Given the description of an element on the screen output the (x, y) to click on. 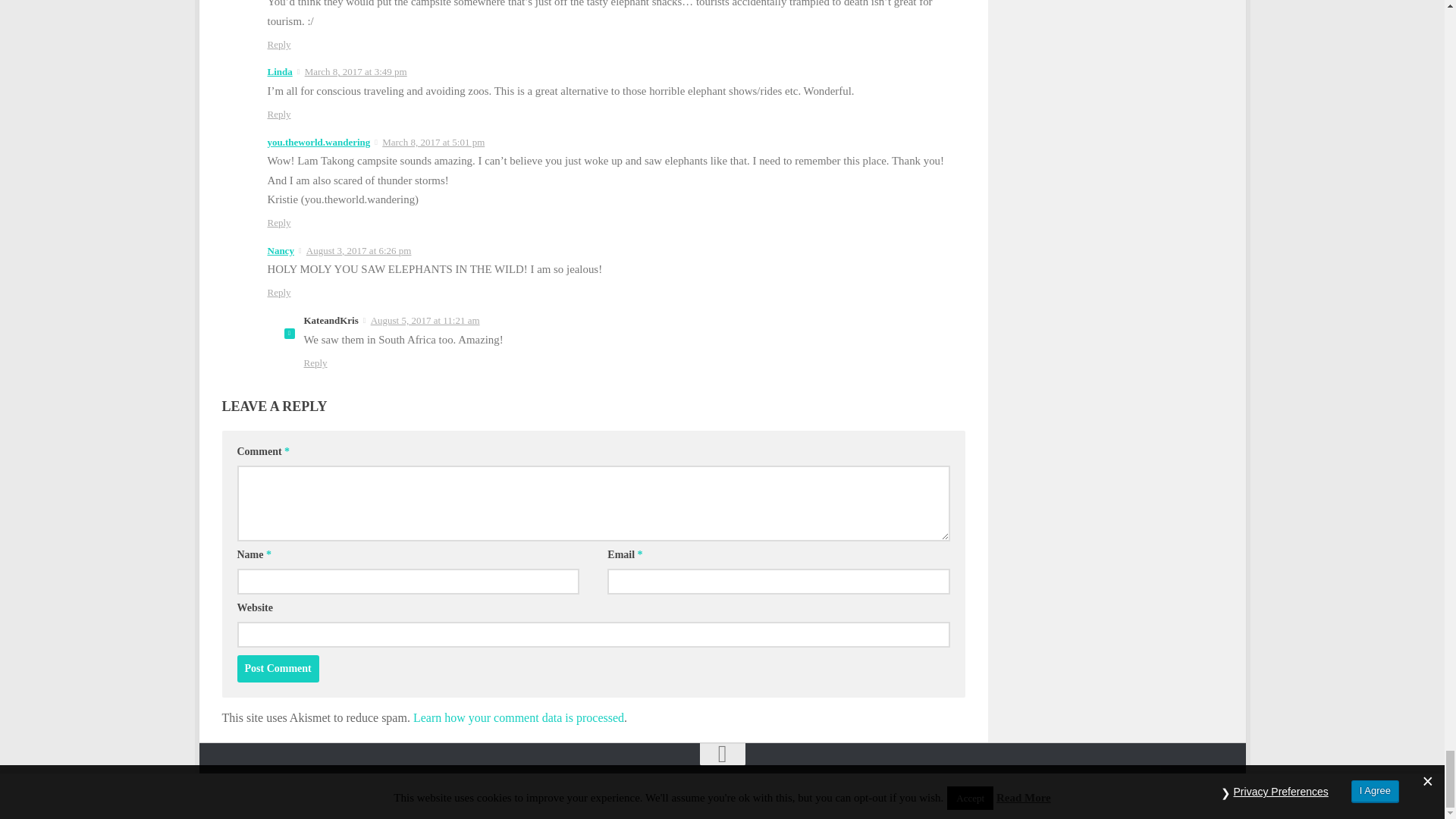
Post Comment (276, 668)
